Given the description of an element on the screen output the (x, y) to click on. 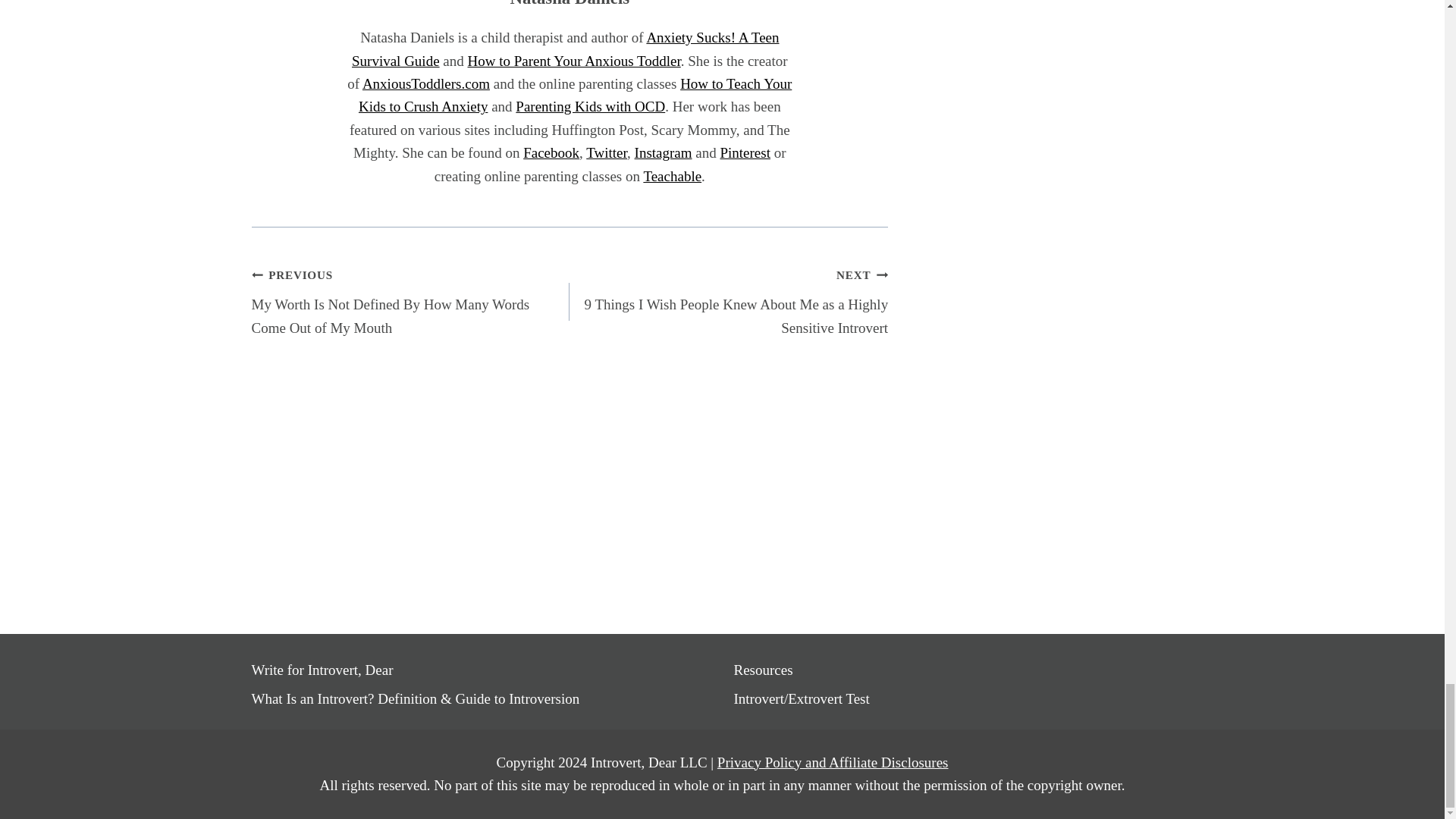
Posts by Natasha Daniels (568, 3)
